Given the description of an element on the screen output the (x, y) to click on. 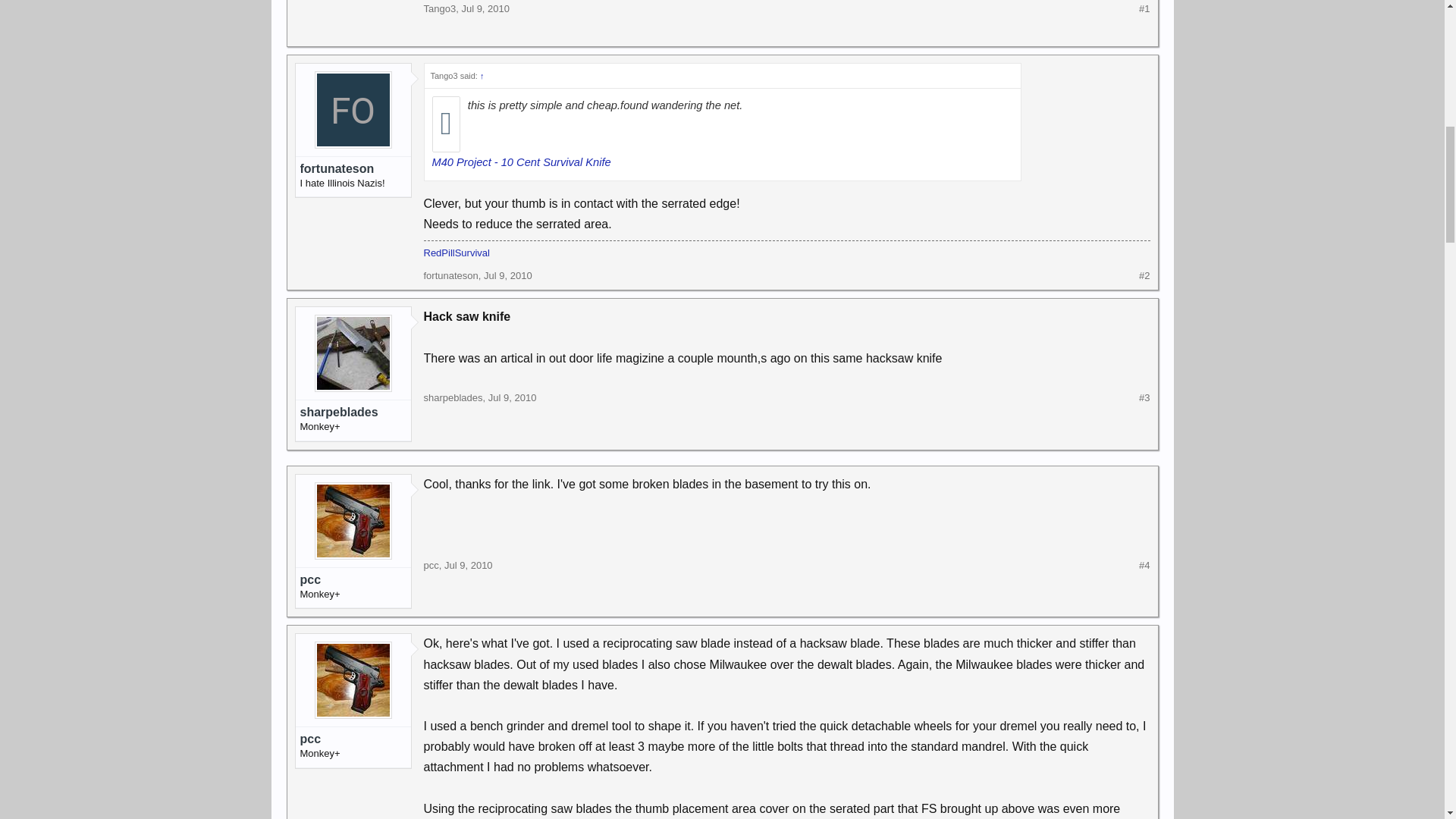
RedPillSurvival (457, 252)
pcc (430, 564)
Tango3 (439, 8)
Jul 9, 2010 (485, 8)
Jul 9, 2010 (468, 564)
Jul 9, 2010 (512, 397)
Jul 9, 2010 (507, 275)
sharpeblades (452, 397)
sharpeblades (352, 412)
Permalink (468, 564)
